Given the description of an element on the screen output the (x, y) to click on. 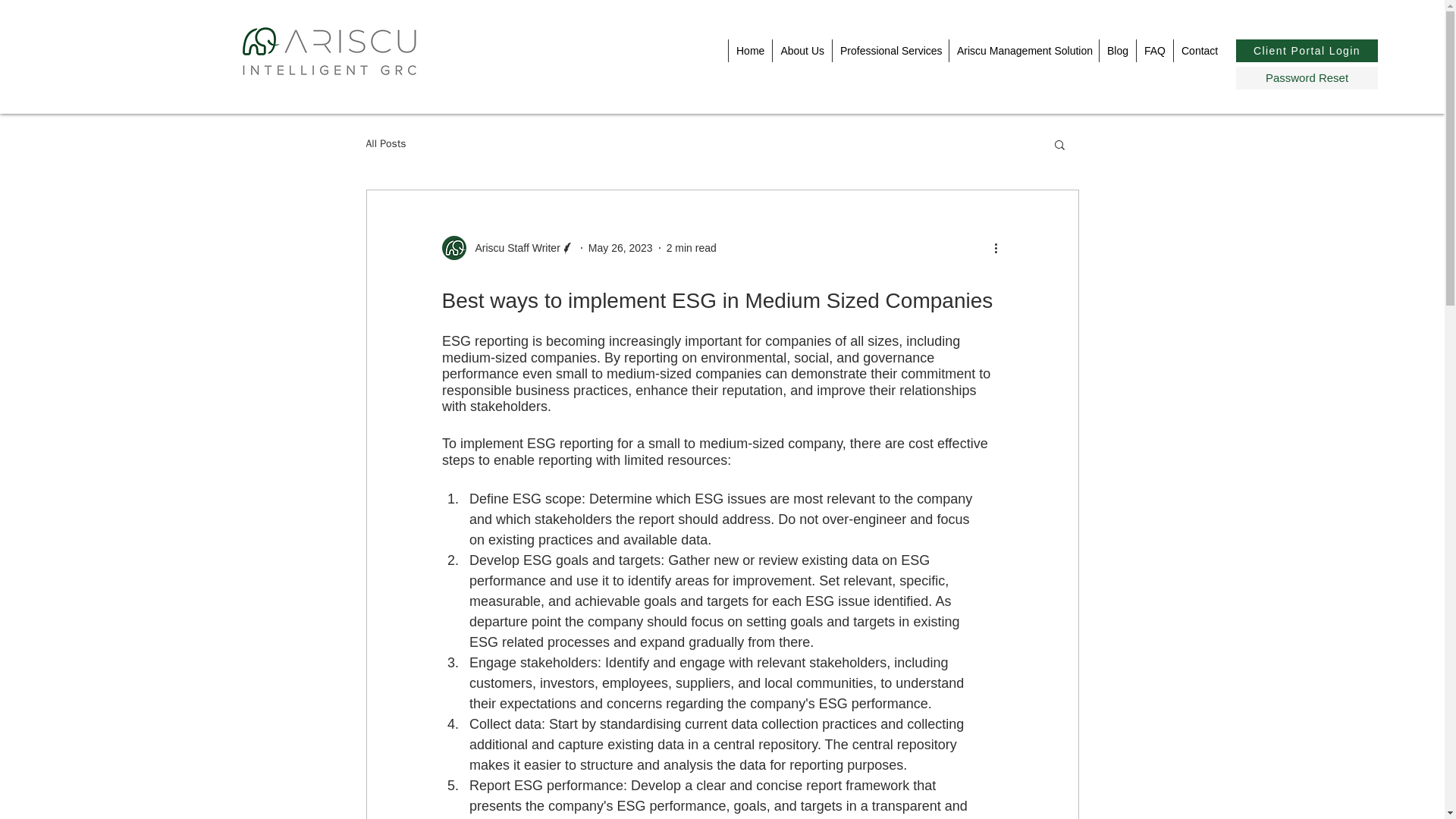
Client Portal Login (1306, 50)
Ariscu Staff Writer (507, 247)
Contact (1198, 50)
Home (749, 50)
2 min read (691, 246)
May 26, 2023 (620, 246)
Blog (1117, 50)
FAQ (1154, 50)
Ariscu Management Solution (1024, 50)
Password Reset (1306, 77)
